Given the description of an element on the screen output the (x, y) to click on. 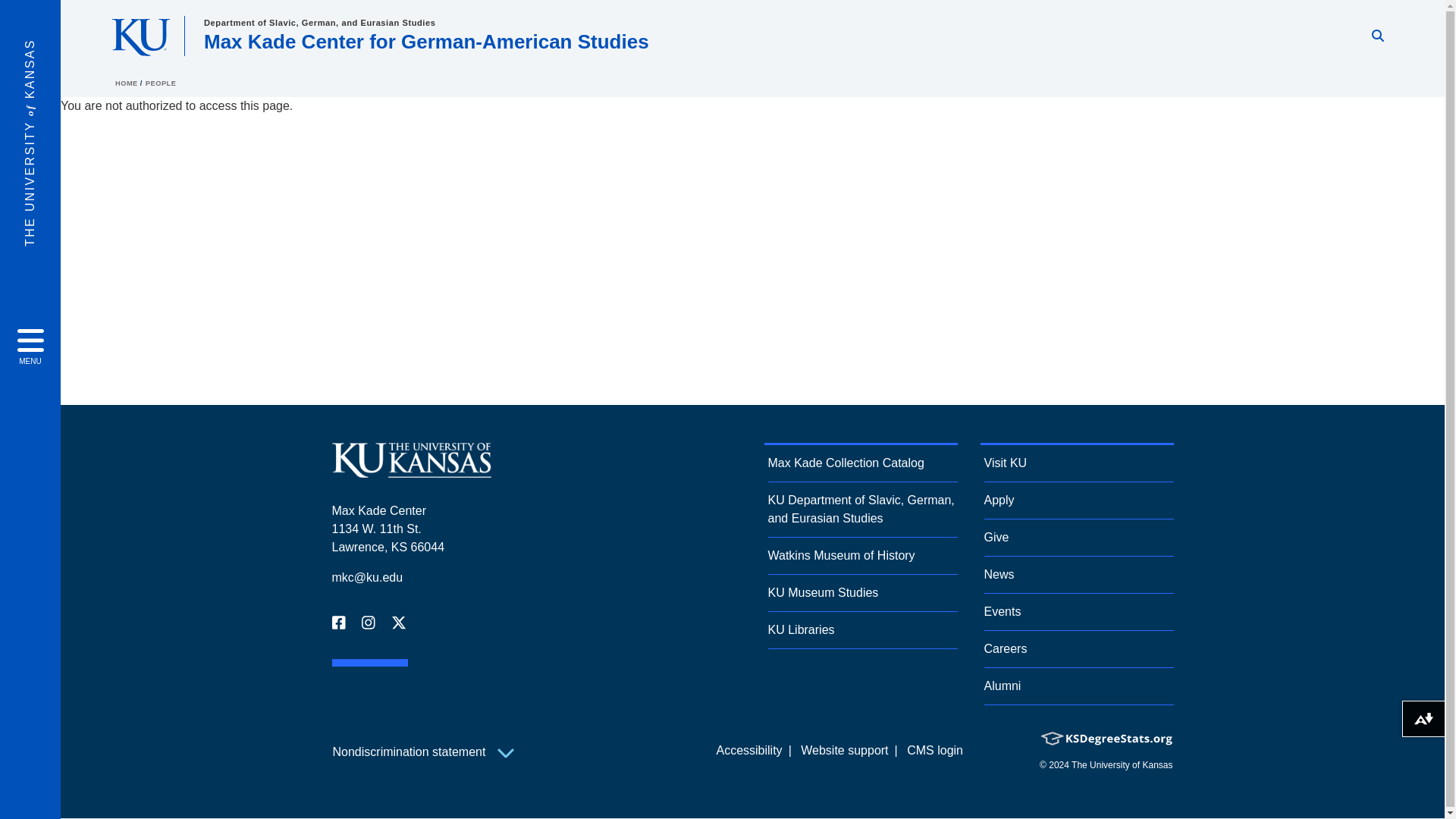
Department of Slavic, German, and Eurasian Studies (319, 22)
Department of Slavic, German, and Eurasian Studies (319, 22)
The University of Kansas (411, 471)
